Given the description of an element on the screen output the (x, y) to click on. 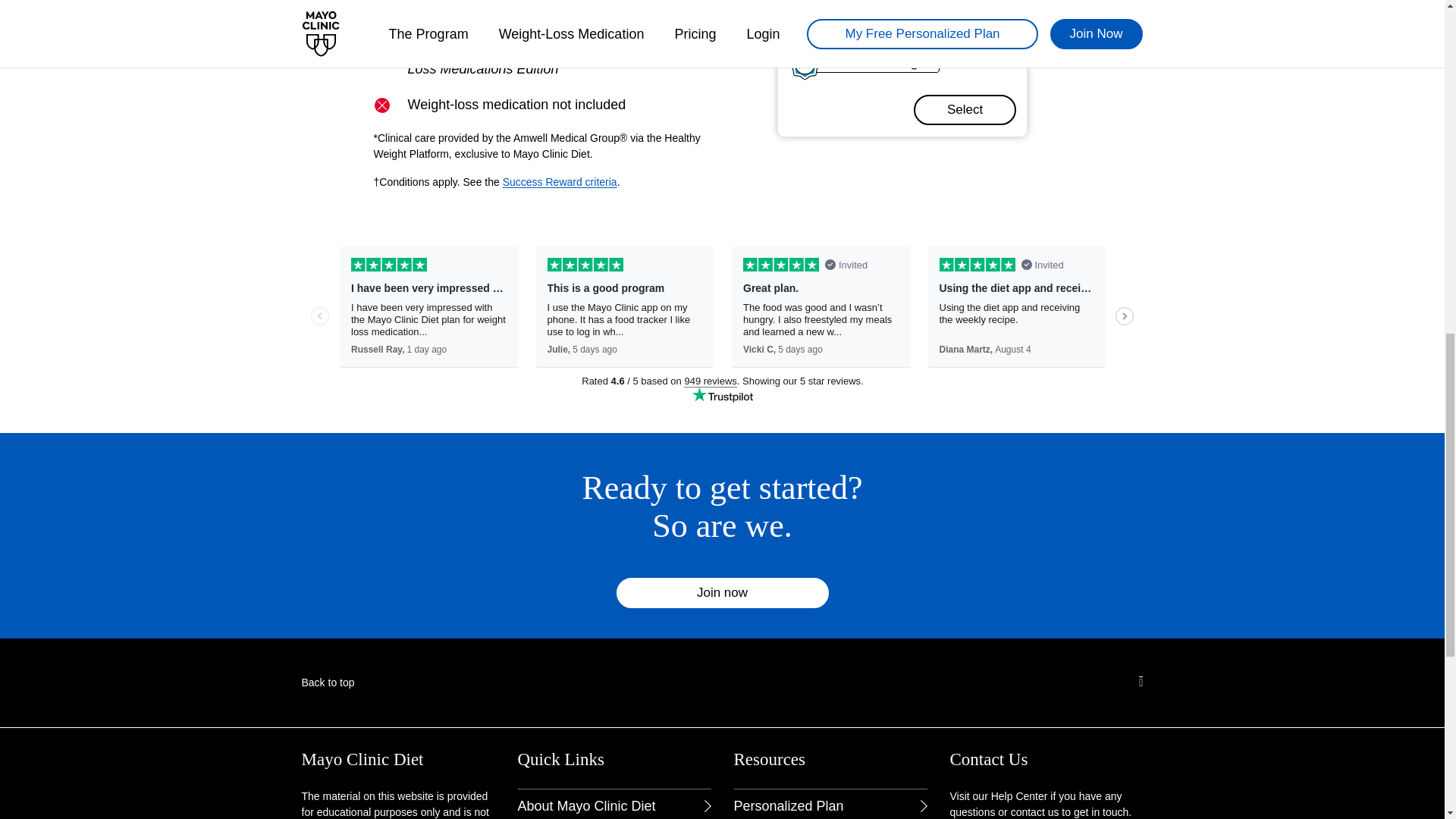
Success Reward (559, 182)
Back to top (328, 682)
Select (965, 110)
About Mayo Clinic Diet (613, 804)
Join now (721, 593)
Back to top (328, 682)
Success Reward criteria (559, 182)
Back to top (720, 506)
